Given the description of an element on the screen output the (x, y) to click on. 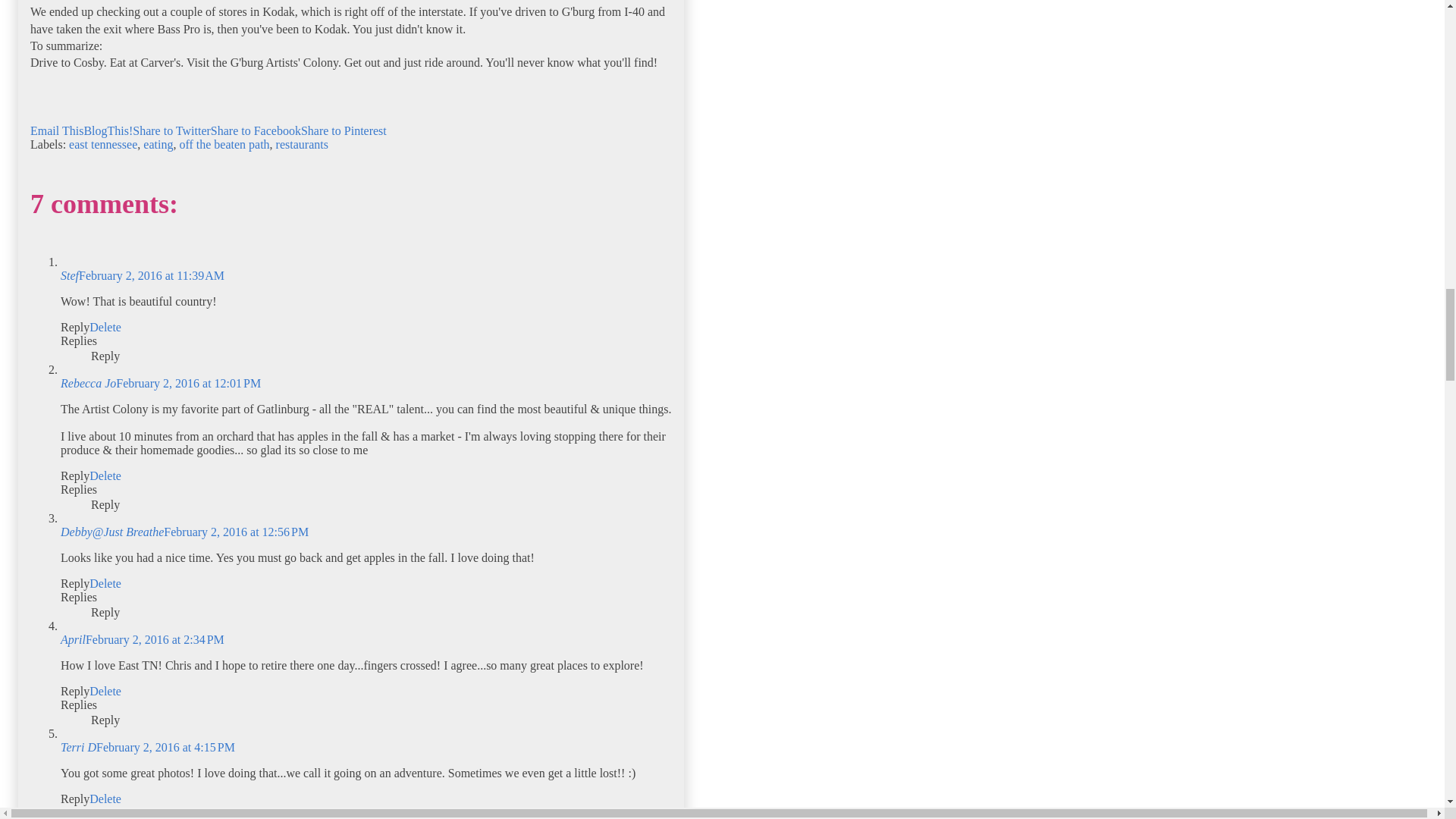
Stef (69, 275)
Share to Facebook (256, 130)
Share to Pinterest (344, 130)
restaurants (302, 144)
BlogThis! (107, 130)
Email This (56, 130)
BlogThis! (107, 130)
eating (157, 144)
Share to Facebook (256, 130)
Email This (56, 130)
Share to Twitter (171, 130)
east tennessee (102, 144)
Share to Twitter (171, 130)
off the beaten path (224, 144)
